Given the description of an element on the screen output the (x, y) to click on. 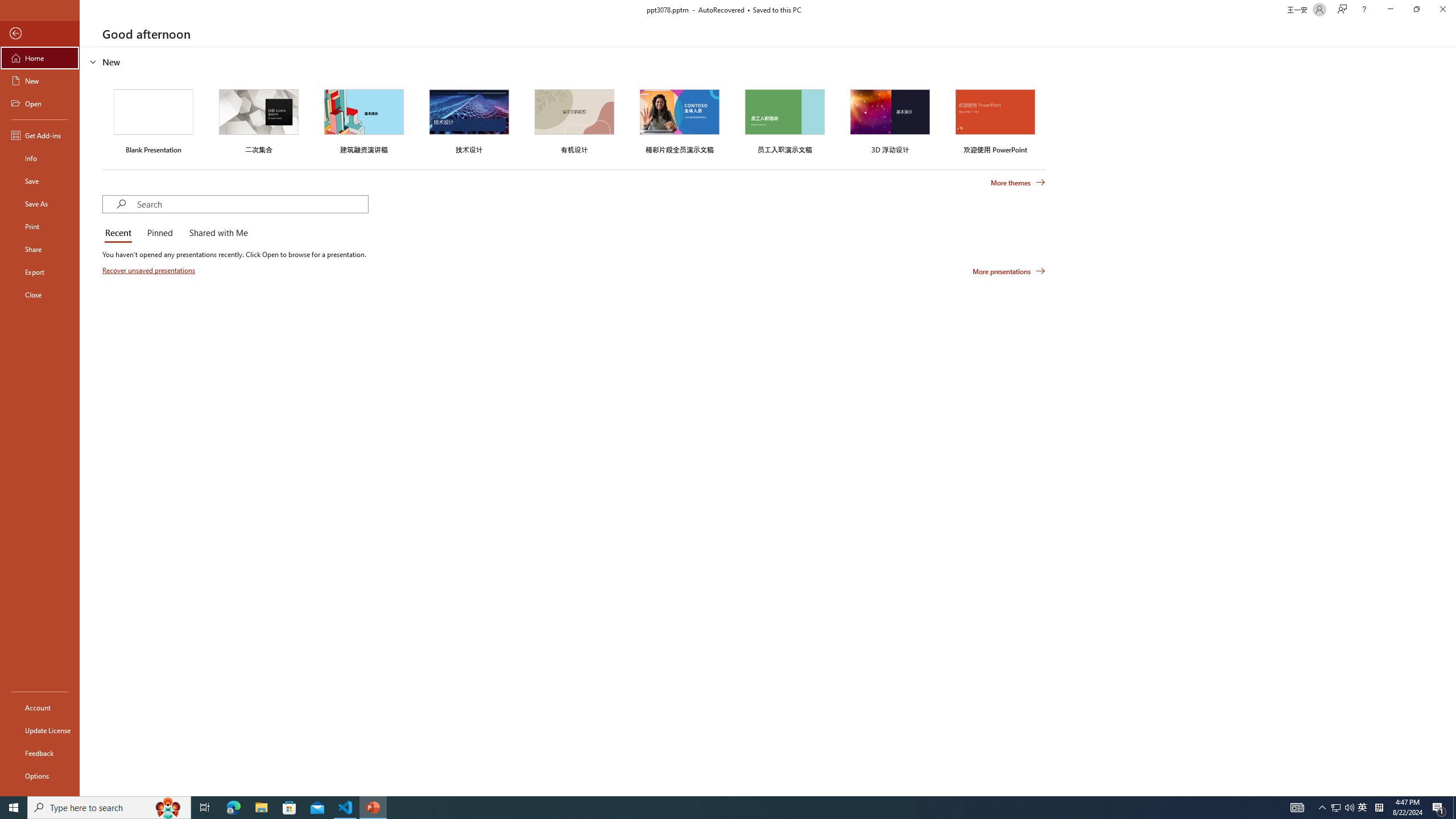
Recent (119, 233)
Pinned (159, 233)
Recover unsaved presentations (149, 270)
Info (40, 157)
Export (40, 271)
Print (40, 225)
More presentations (1008, 270)
Save As (40, 203)
